Given the description of an element on the screen output the (x, y) to click on. 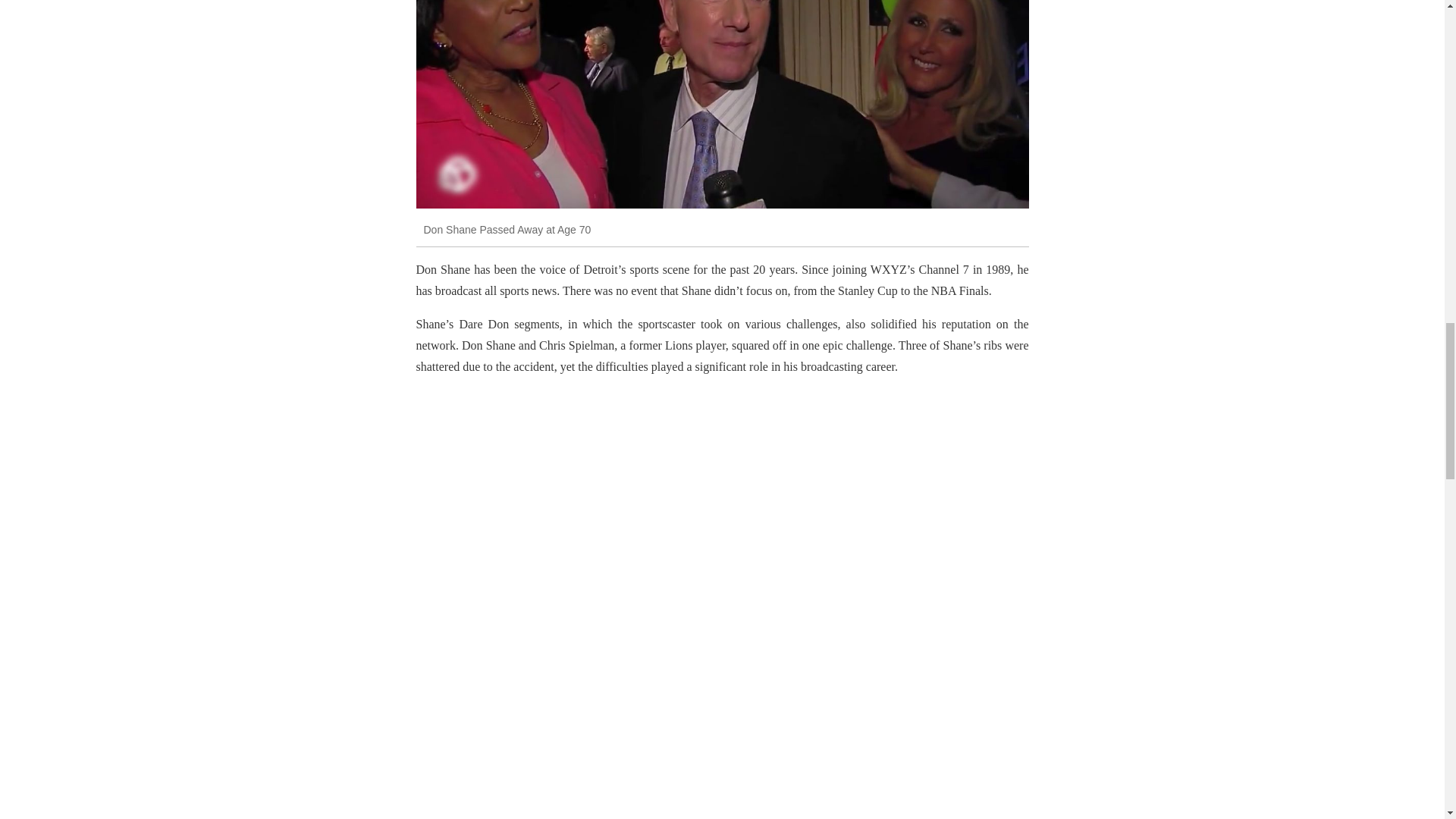
3rd party ad content (720, 732)
